Given the description of an element on the screen output the (x, y) to click on. 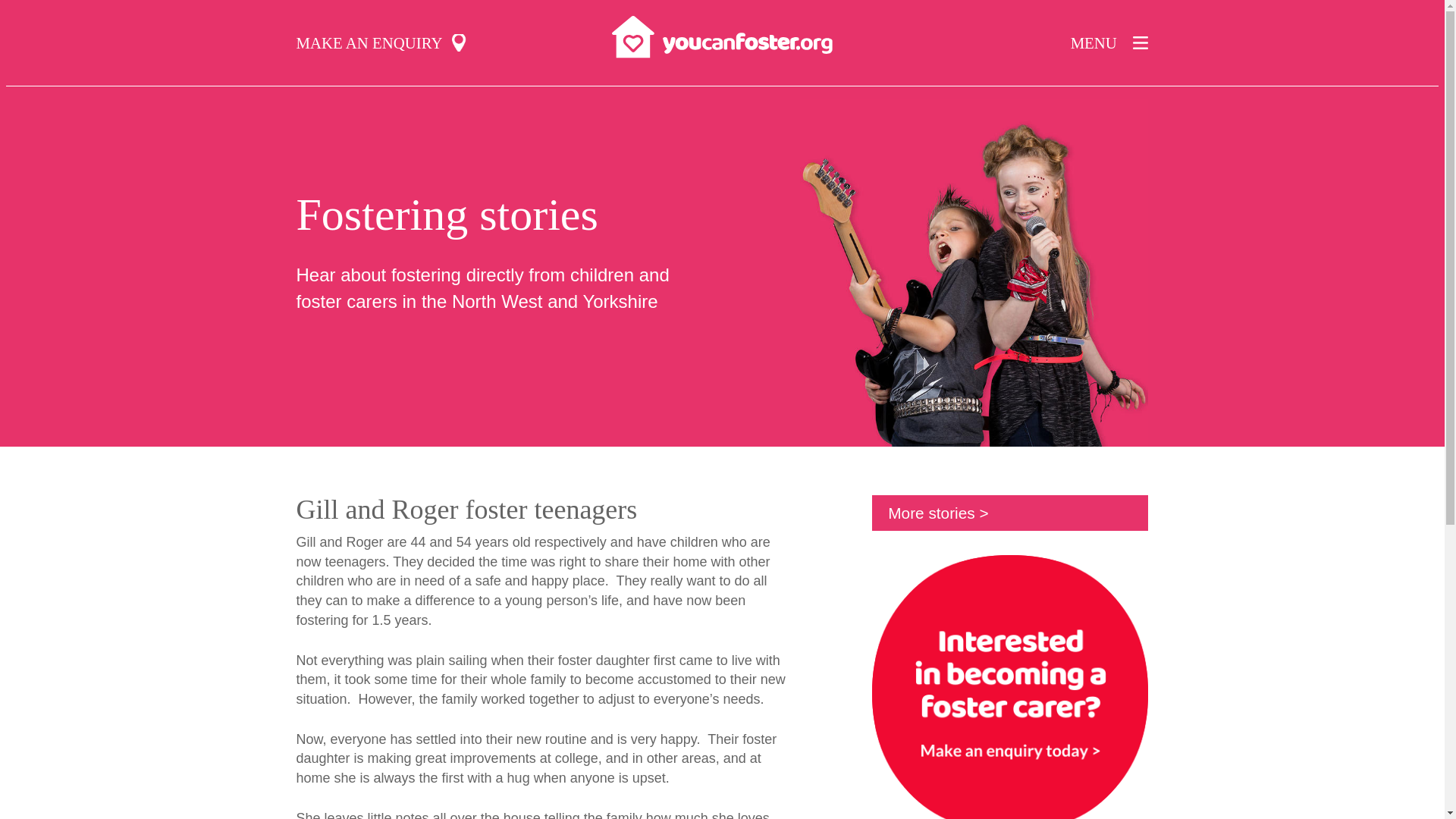
MAKE AN ENQUIRY (380, 42)
MENU (1109, 42)
Home (721, 35)
